Given the description of an element on the screen output the (x, y) to click on. 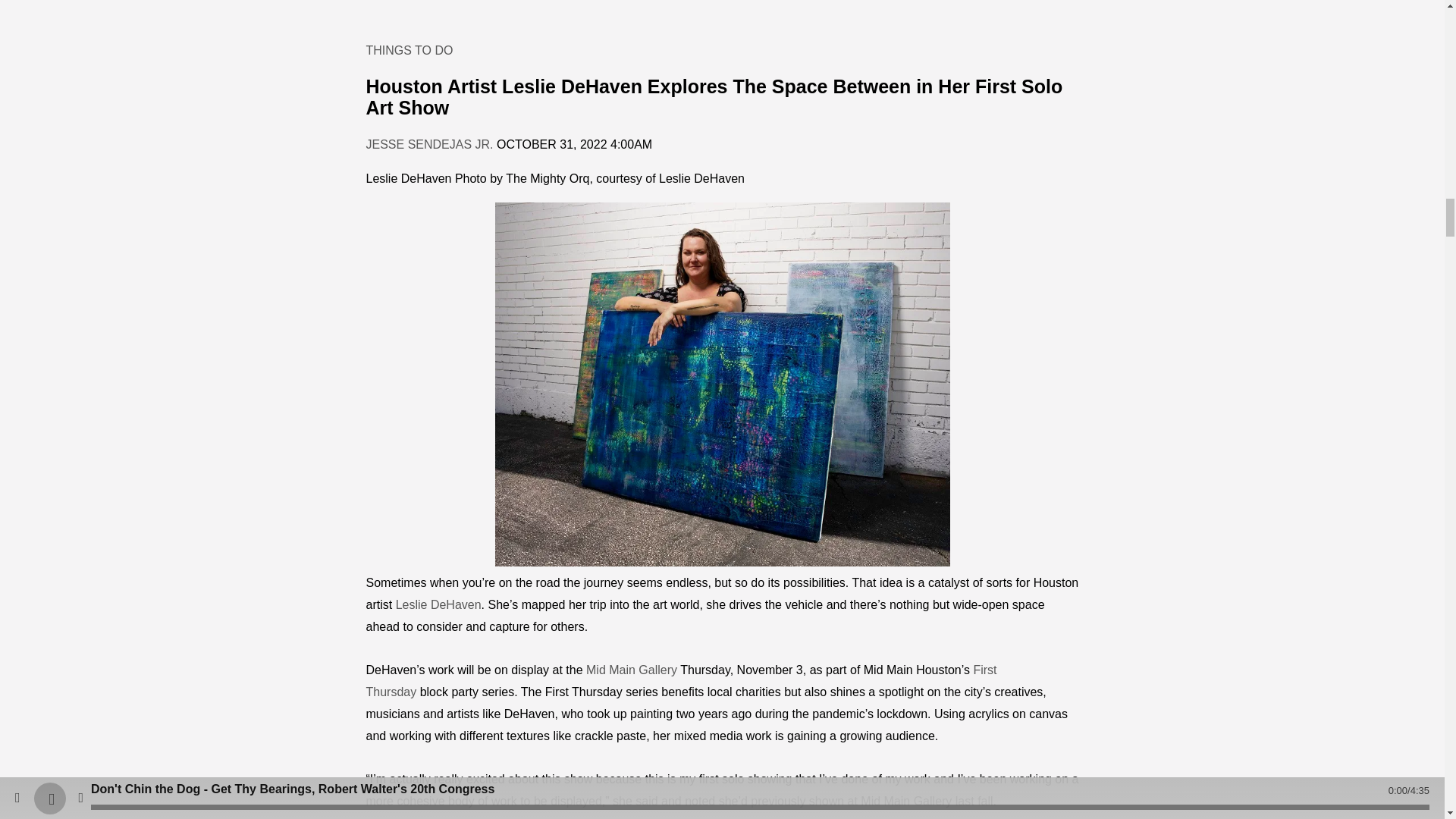
Mid Main Gallery (631, 669)
Leslie DeHaven (438, 604)
JESSE SENDEJAS JR. (429, 144)
THINGS TO DO (408, 50)
First Thursday (680, 680)
